Given the description of an element on the screen output the (x, y) to click on. 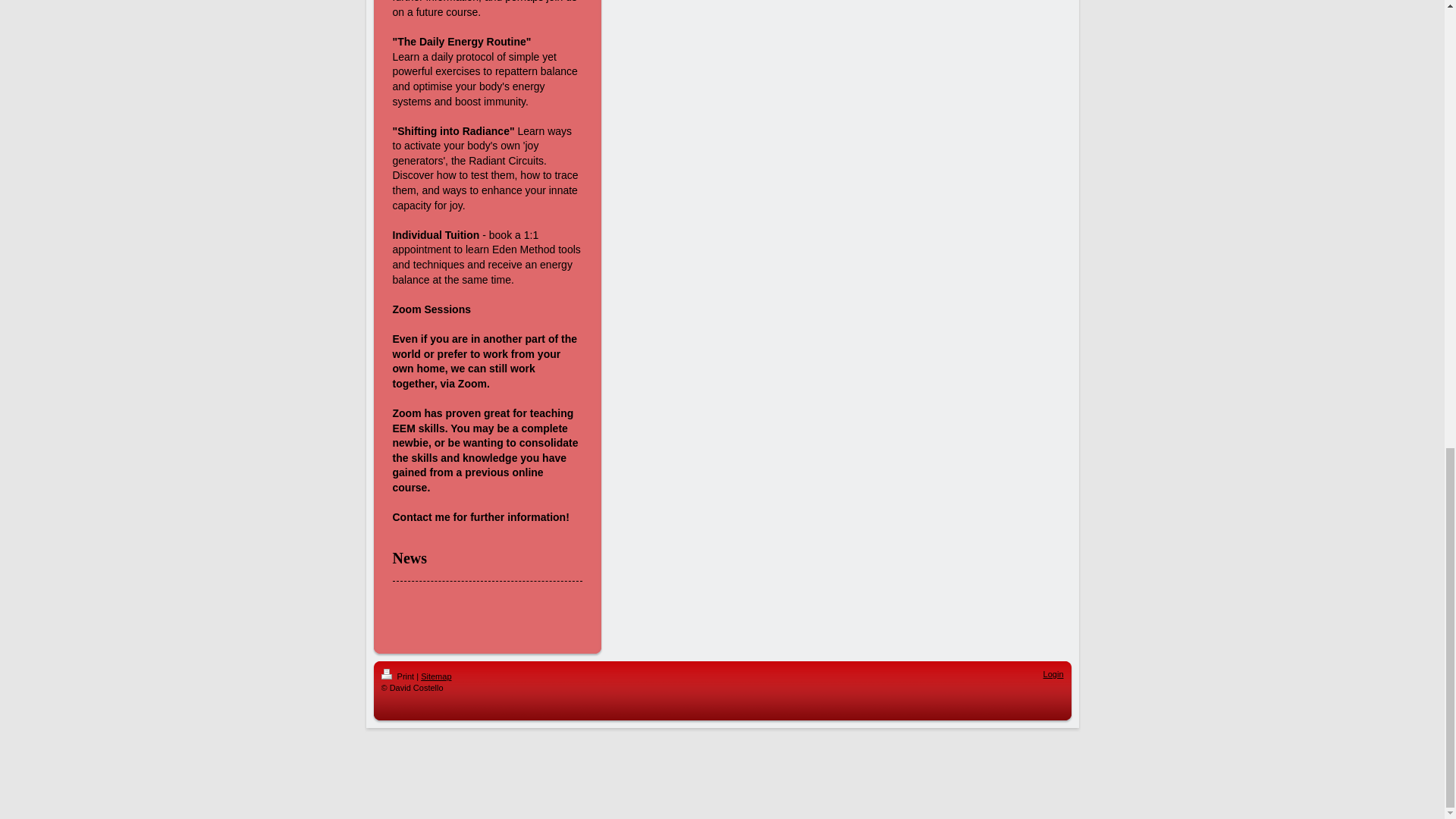
Print (398, 675)
Login (1053, 673)
Sitemap (435, 675)
